Given the description of an element on the screen output the (x, y) to click on. 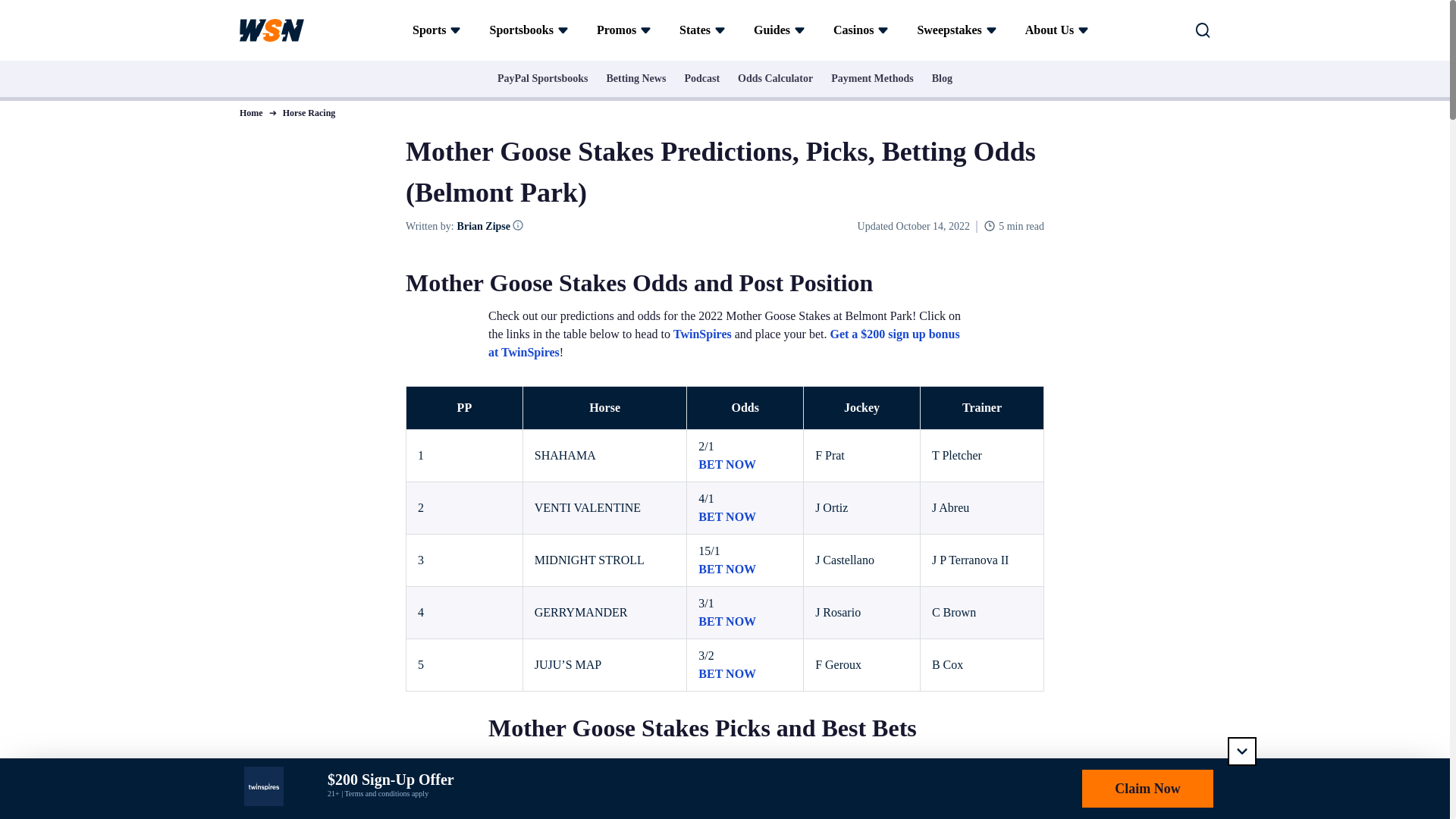
World Sports Network (272, 29)
